Given the description of an element on the screen output the (x, y) to click on. 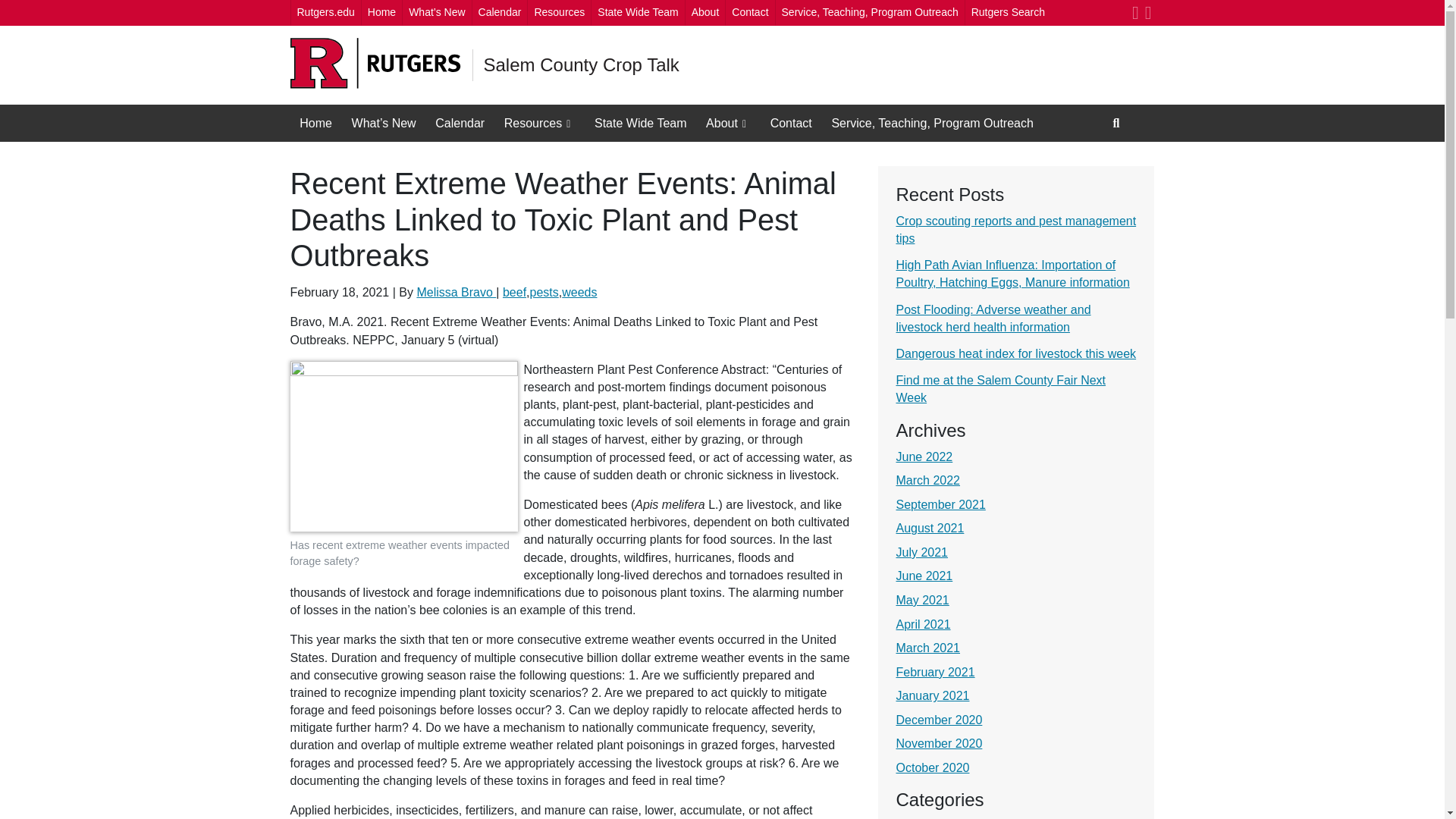
Go to Rutgers University homepage (374, 63)
Open Search Input (1116, 123)
Salem County Crop Talk (581, 65)
Resources (540, 122)
September 2021 (940, 504)
State Wide Team (637, 12)
Salem County Crop Talk 's Facebook Page (1135, 12)
Crop scouting reports and pest management tips (1016, 229)
Rutgers.edu (324, 12)
March 2022 (928, 480)
Calendar (460, 122)
August 2021 (929, 527)
Calendar (499, 12)
LinkedIn Page (1147, 12)
